Given the description of an element on the screen output the (x, y) to click on. 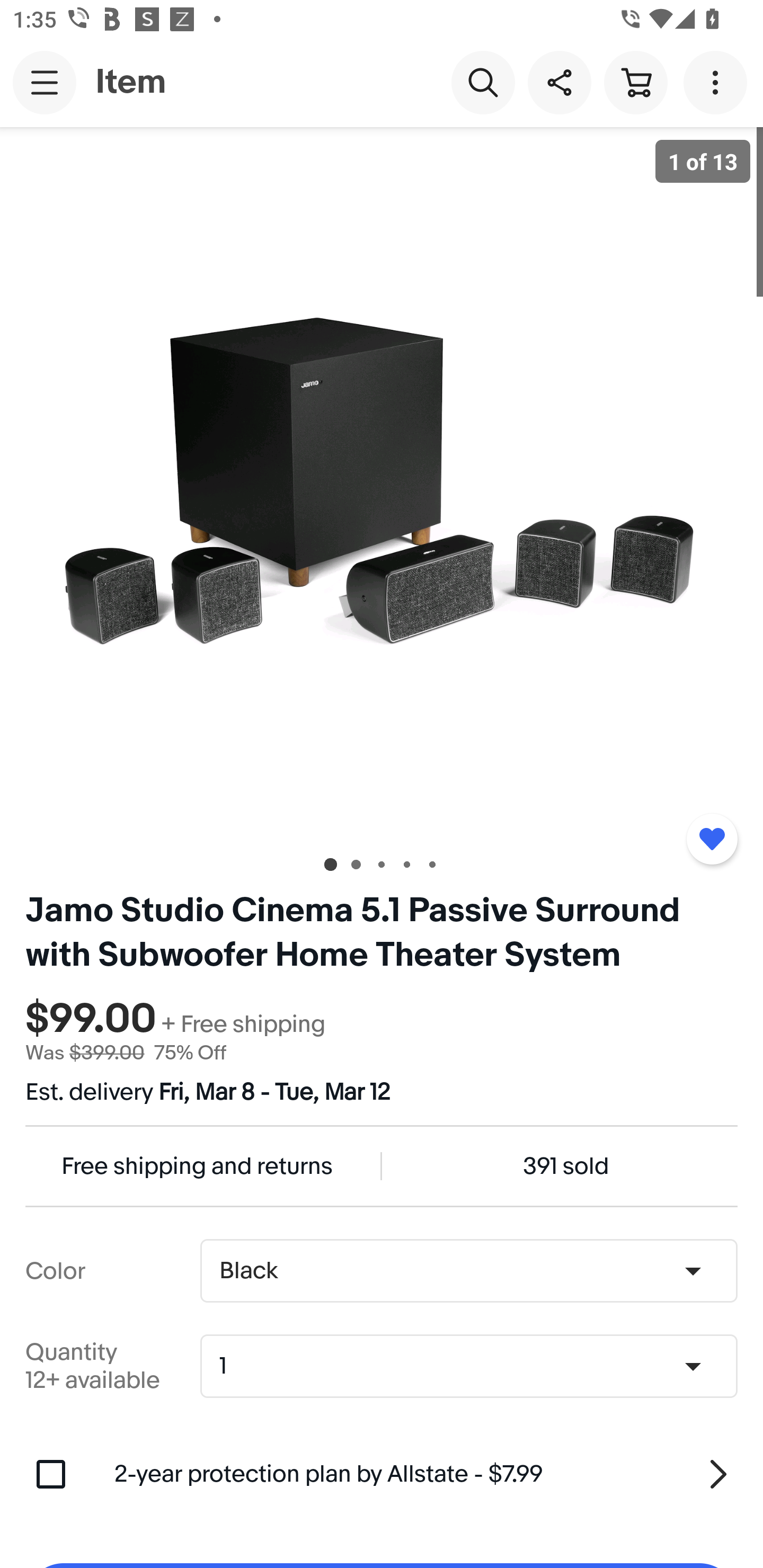
Main navigation, open (44, 82)
Search (482, 81)
Share this item (559, 81)
Cart button shopping cart (635, 81)
More options (718, 81)
Item image 1 of 13 (381, 482)
Added to watchlist (711, 838)
Color,Black Black (468, 1270)
Quantity,1,12+ available 1 (474, 1365)
2-year protection plan by Allstate - $7.99 (425, 1473)
